Given the description of an element on the screen output the (x, y) to click on. 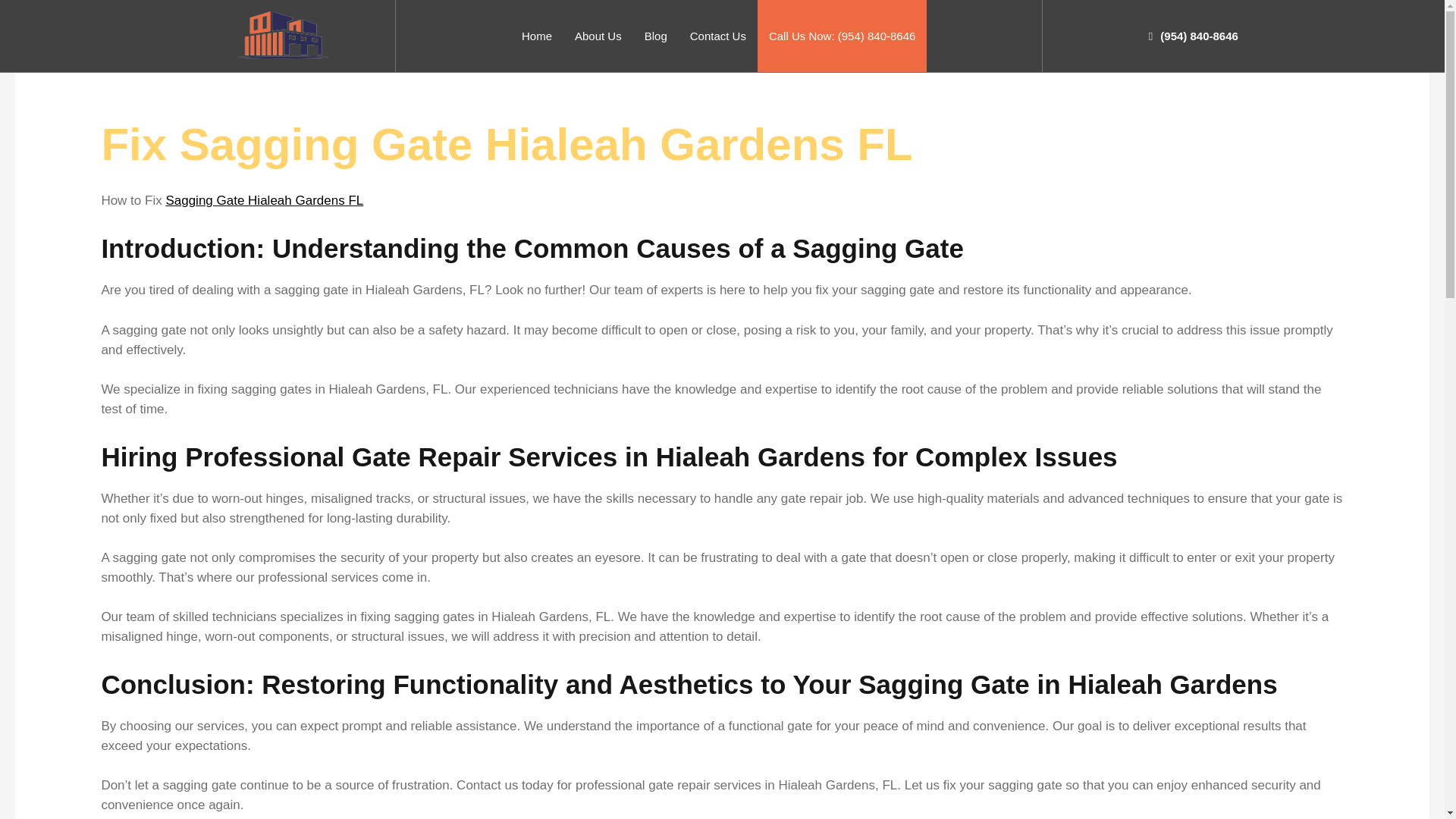
garage door repair aurora (284, 35)
Contact Us (717, 36)
Sagging Gate Hialeah Gardens FL (263, 200)
About Us (598, 36)
